Given the description of an element on the screen output the (x, y) to click on. 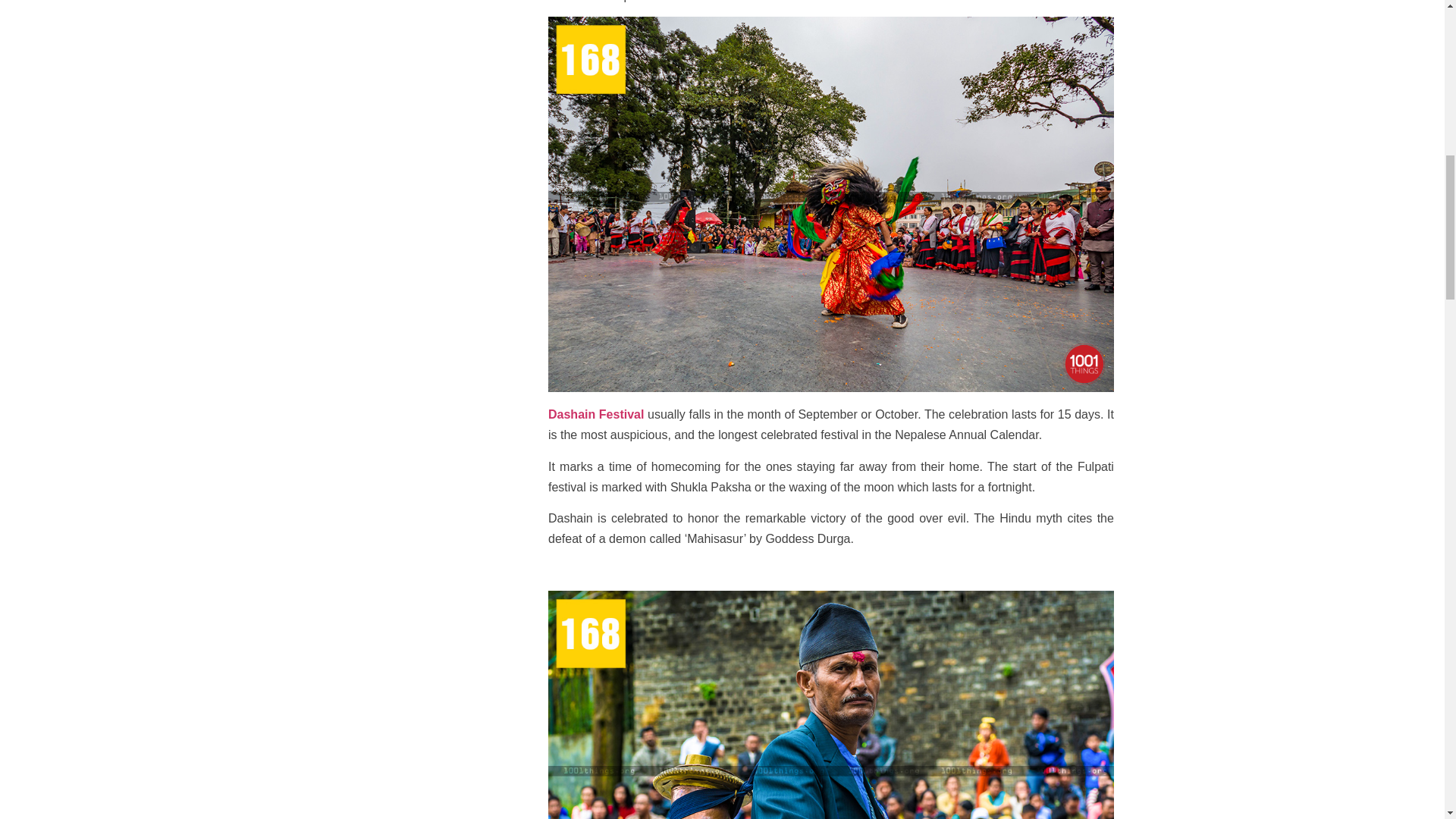
Dashain Festival (595, 413)
